Given the description of an element on the screen output the (x, y) to click on. 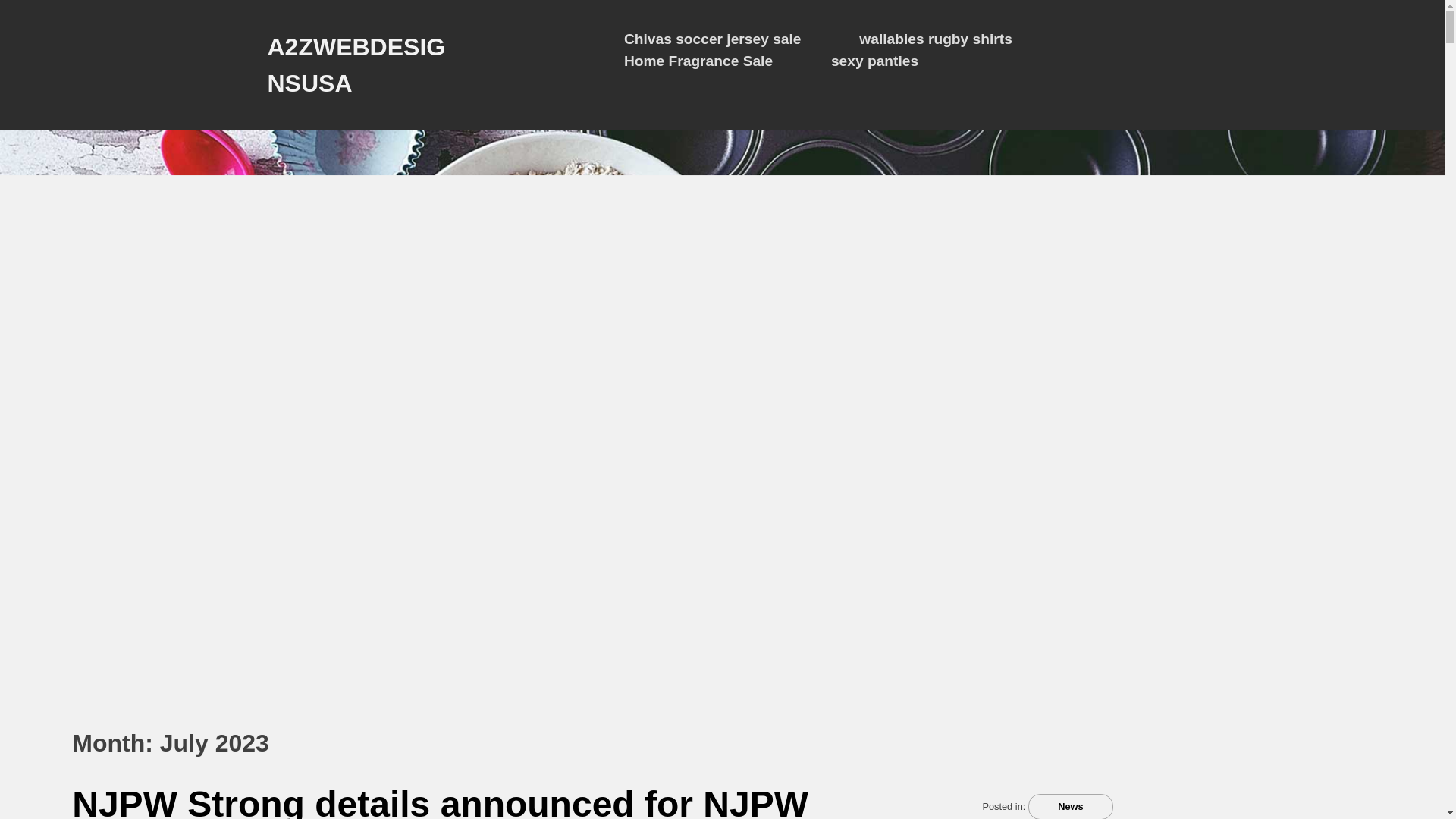
sexy panties (874, 61)
wallabies rugby shirts (935, 39)
Chivas soccer jersey sale (713, 39)
Home Fragrance Sale (698, 61)
